Given the description of an element on the screen output the (x, y) to click on. 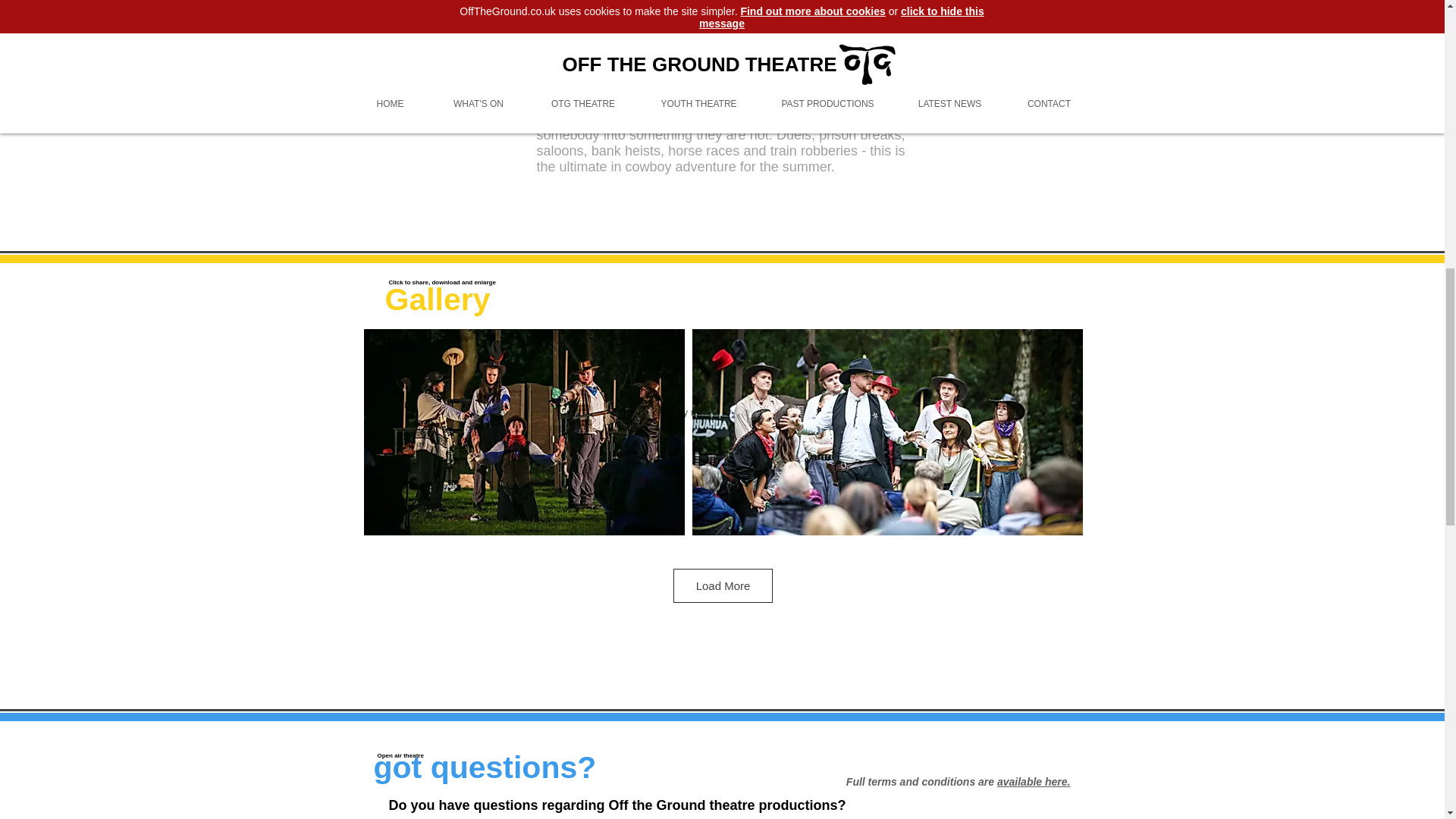
available here. (1033, 781)
Ballads of Billy the Kid Poster - Blank.jpg (1069, 48)
Load More (722, 585)
